Given the description of an element on the screen output the (x, y) to click on. 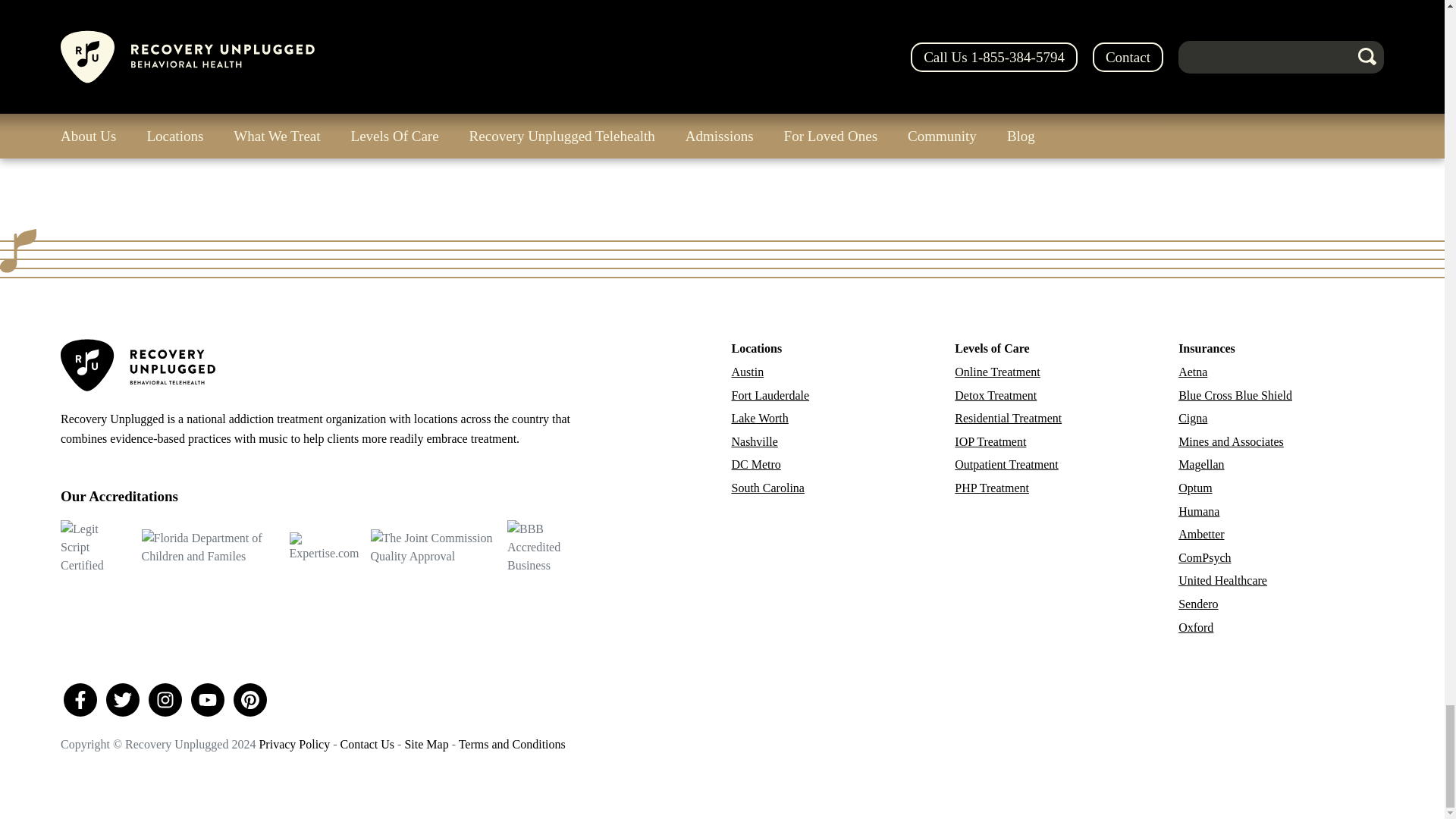
RU On Instagram (165, 699)
Read Our Editorial Policy (345, 42)
RU On YouTube (207, 699)
RU On Twitter (122, 699)
RU On Facebook (80, 699)
